Given the description of an element on the screen output the (x, y) to click on. 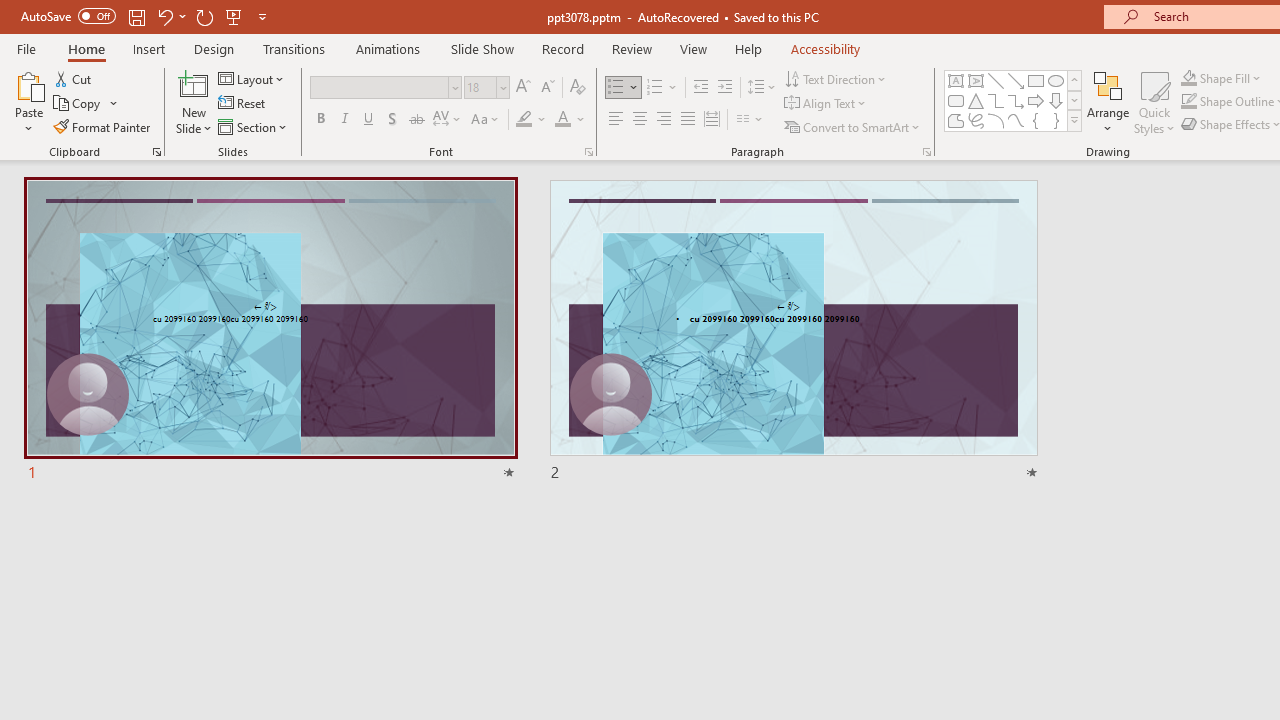
Rectangle (1035, 80)
Home (86, 48)
Decrease Font Size (547, 87)
Design (214, 48)
AutomationID: ShapesInsertGallery (1014, 100)
File Tab (26, 48)
Underline (369, 119)
Paste (28, 102)
Font Color Red (562, 119)
Bold (320, 119)
Vertical Text Box (975, 80)
Connector: Elbow Arrow (1016, 100)
Font Size (486, 87)
Decrease Indent (700, 87)
Section (254, 126)
